Given the description of an element on the screen output the (x, y) to click on. 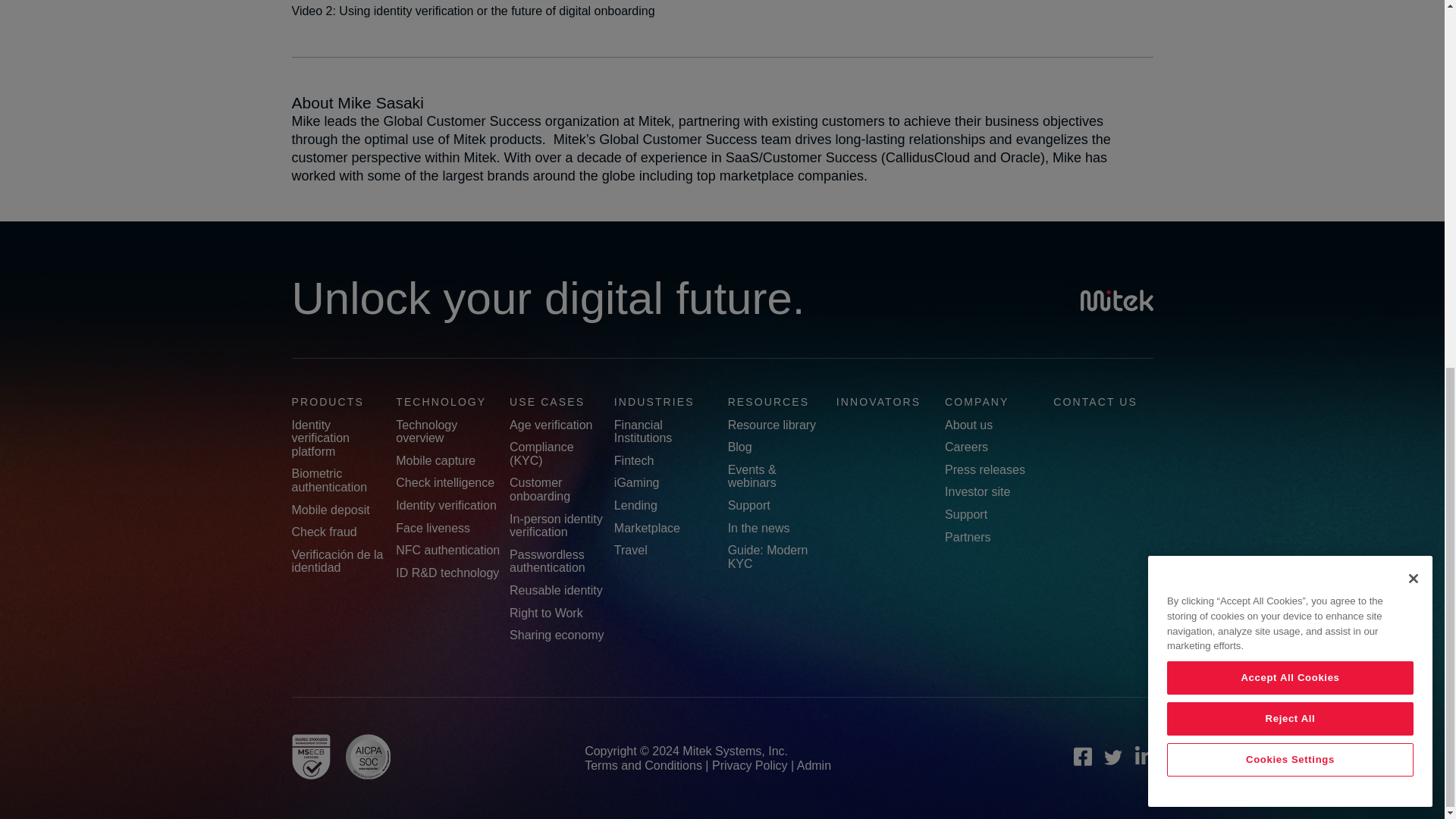
Mitek (1116, 301)
